Given the description of an element on the screen output the (x, y) to click on. 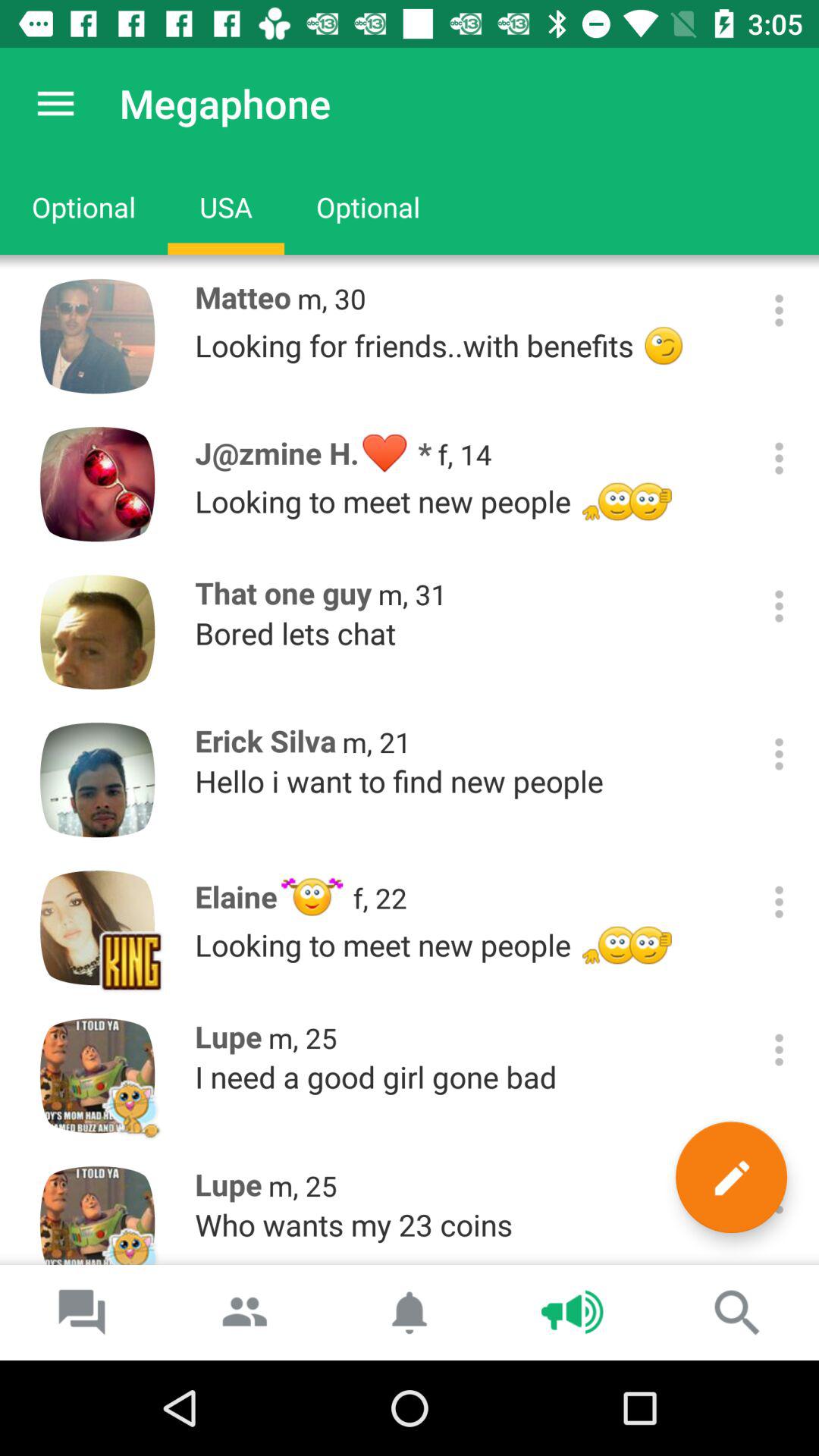
profile options (779, 310)
